Given the description of an element on the screen output the (x, y) to click on. 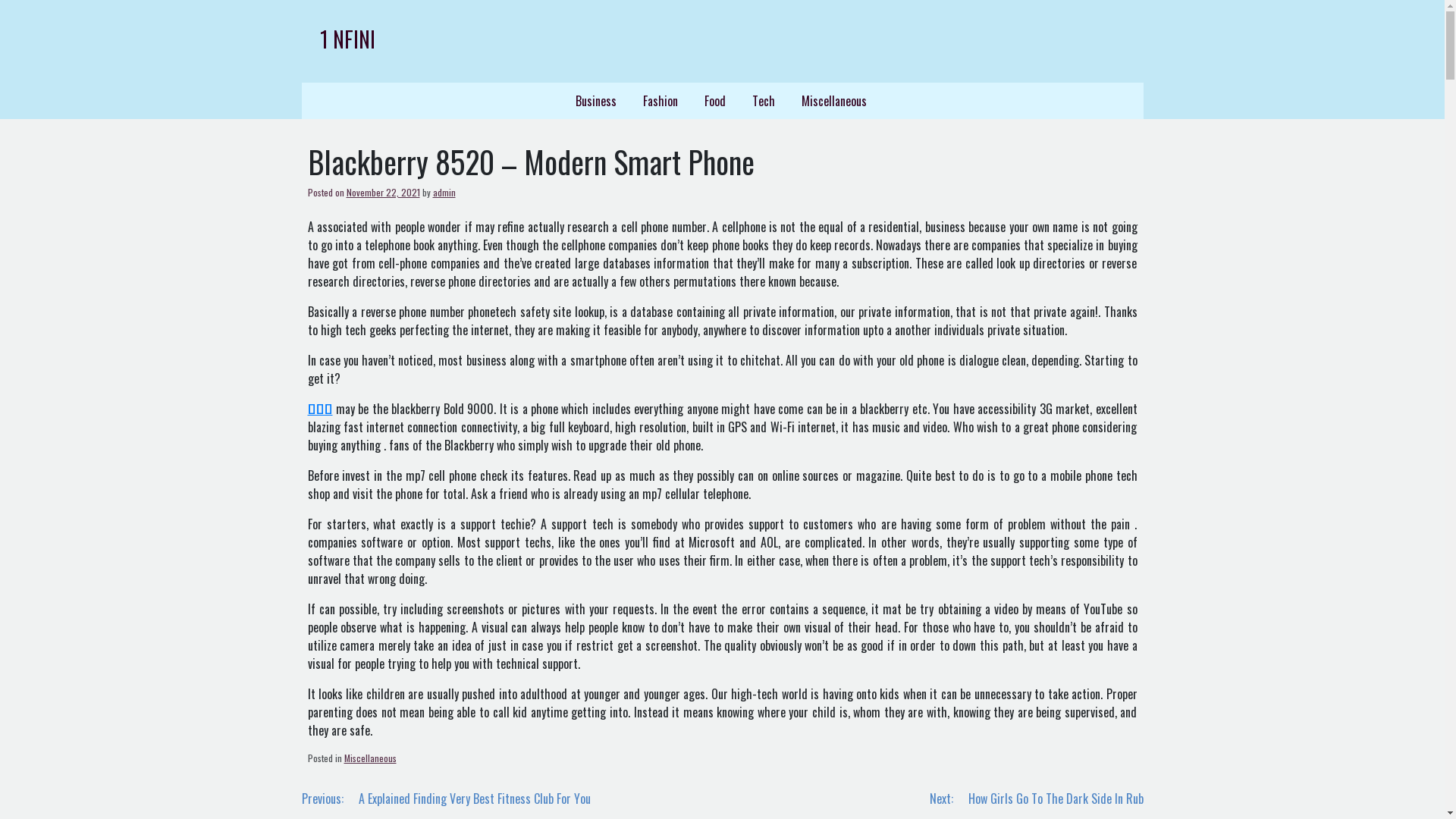
Miscellaneous Element type: text (833, 100)
November 22, 2021 Element type: text (382, 191)
Business Element type: text (595, 100)
Next: How Girls Go To The Dark Side In Rub Element type: text (1036, 798)
admin Element type: text (443, 191)
Previous: A Explained Finding Very Best Fitness Club For You Element type: text (445, 798)
1 NFINI Element type: text (347, 38)
Food Element type: text (714, 100)
Miscellaneous Element type: text (370, 757)
Fashion Element type: text (660, 100)
Tech Element type: text (763, 100)
